Given the description of an element on the screen output the (x, y) to click on. 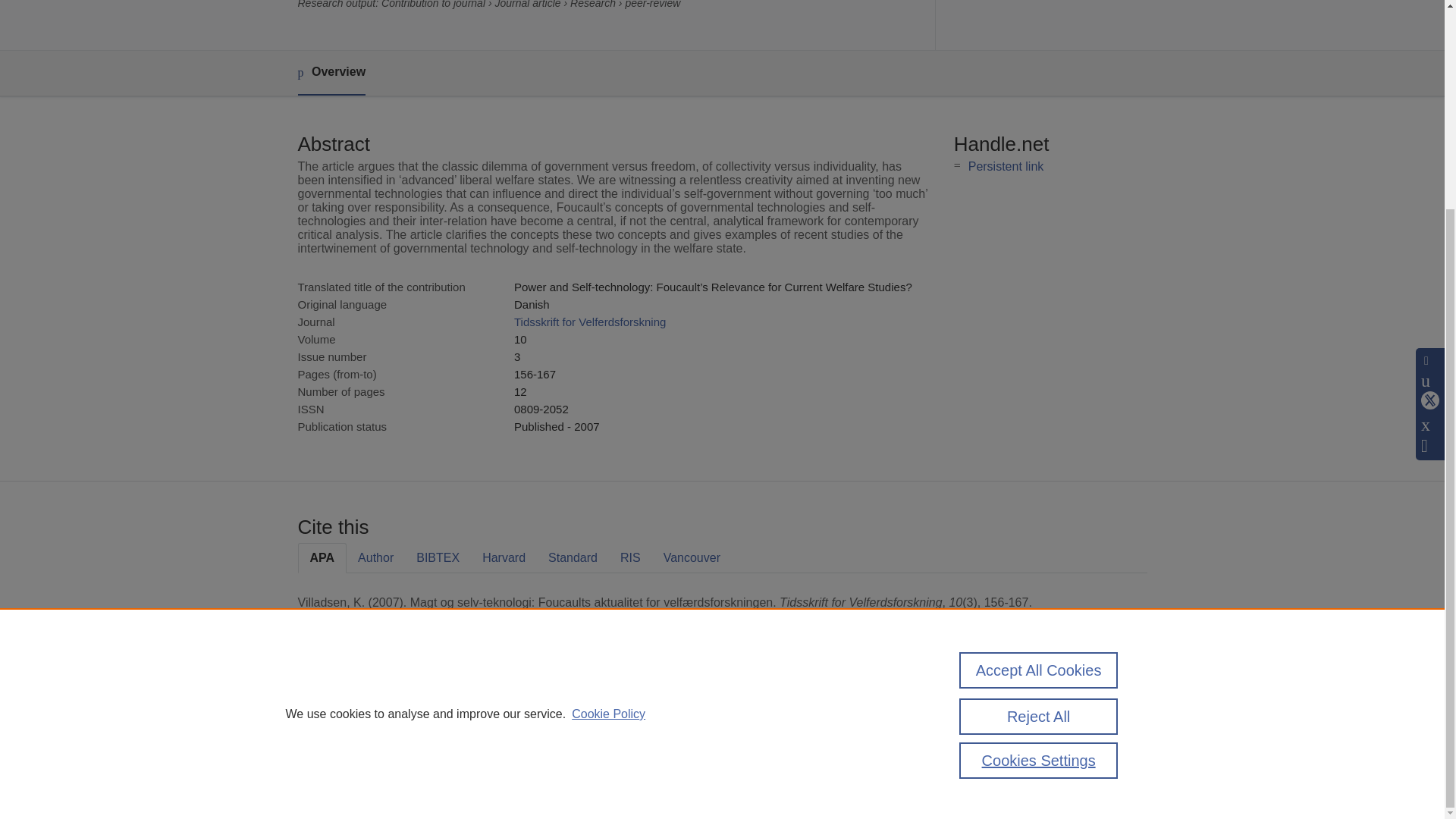
Persistent link (1005, 165)
Accept All Cookies (1038, 398)
Report vulnerability (993, 760)
Scopus (394, 708)
Cookies Settings (334, 781)
Overview (331, 72)
Contact us (1123, 713)
Tidsskrift for Velferdsforskning (589, 321)
Pure (362, 708)
Elsevier B.V. (506, 728)
